Given the description of an element on the screen output the (x, y) to click on. 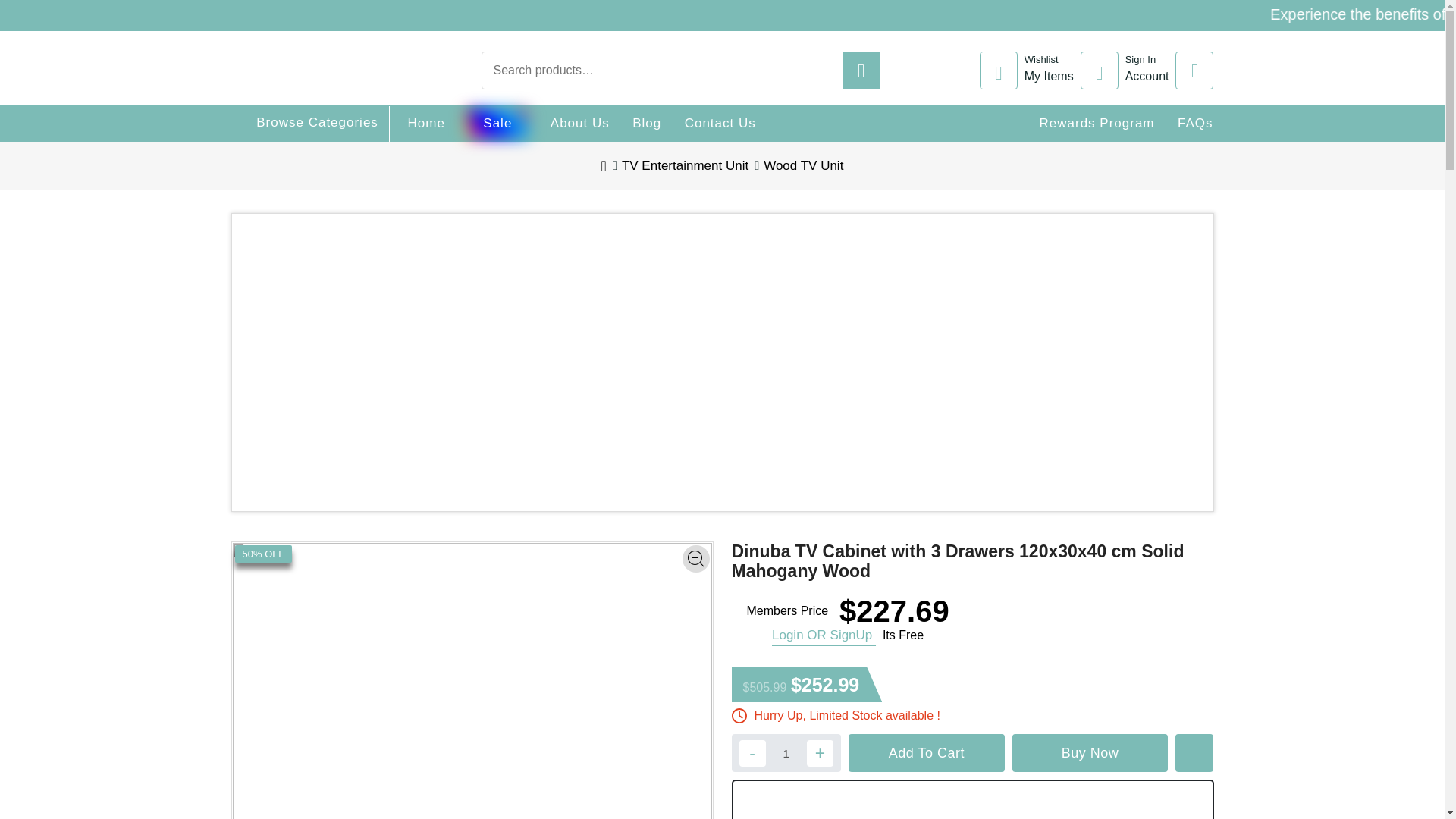
Browse Categories (303, 122)
Contact Us (1128, 70)
Rewards Program (719, 123)
FAQs (1096, 123)
283913 (1194, 123)
View All Product (580, 123)
Search (1329, 11)
Home (1363, 17)
